Given the description of an element on the screen output the (x, y) to click on. 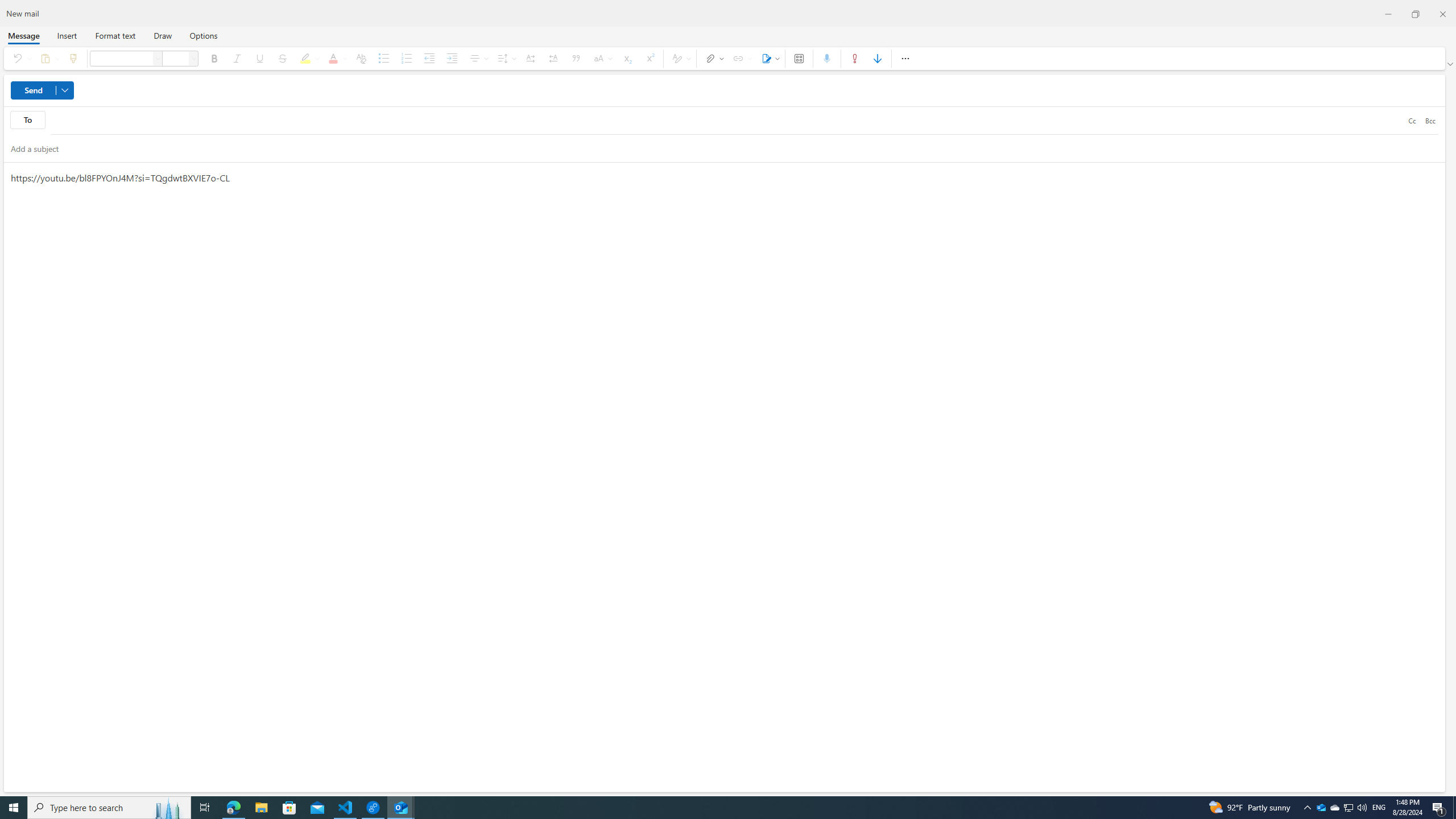
To (726, 120)
Message body, press Alt+F10 to exit (724, 476)
Decrease indent (429, 58)
More options (905, 58)
Left-to-right (530, 58)
Paste (47, 58)
High importance (854, 58)
Font size (176, 58)
Signature (768, 58)
Spacing (505, 58)
Strikethrough (282, 58)
Italic (236, 58)
Format text (114, 35)
Font (157, 58)
System (6, 6)
